Given the description of an element on the screen output the (x, y) to click on. 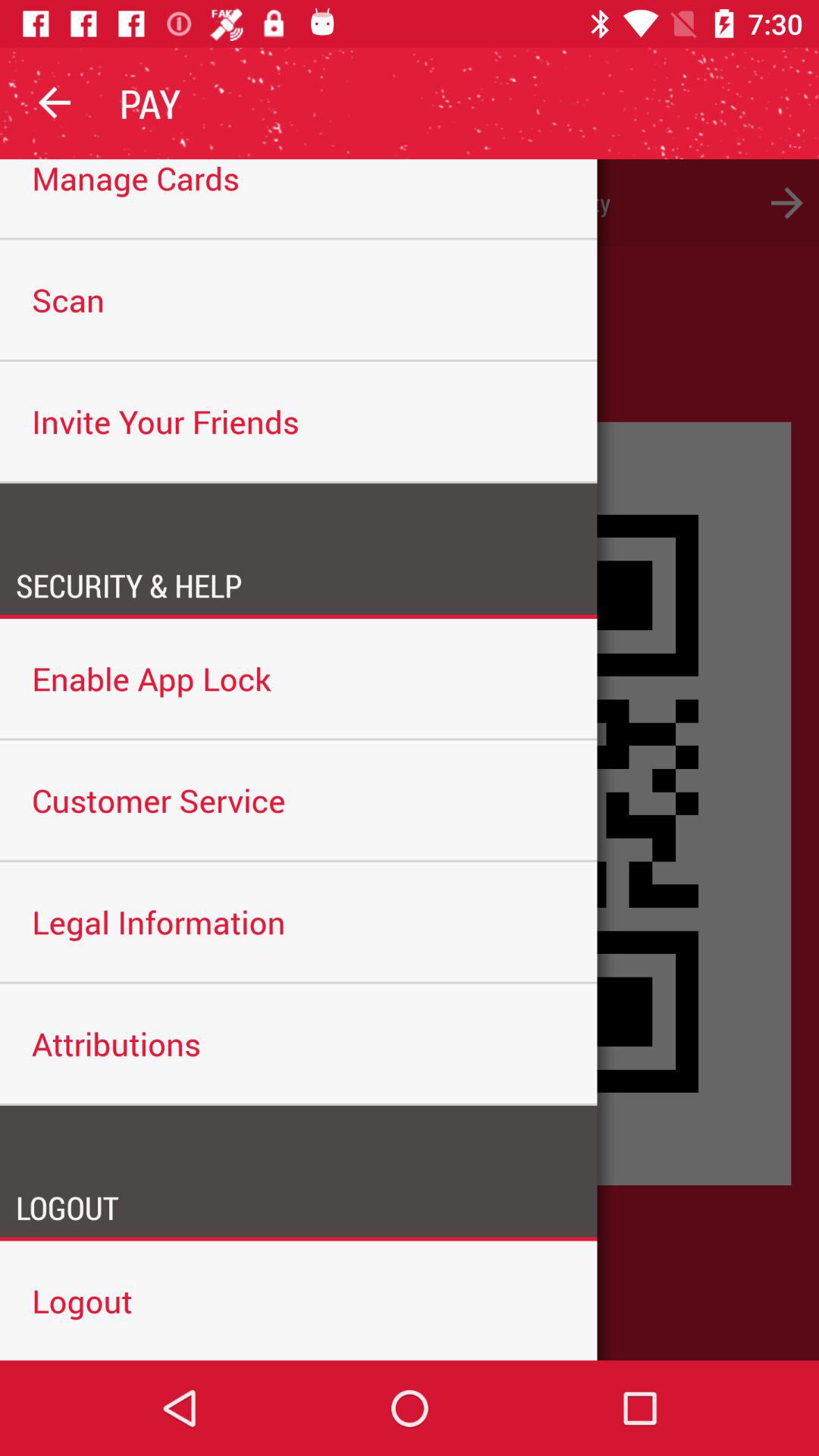
tap the legal information (298, 921)
